Given the description of an element on the screen output the (x, y) to click on. 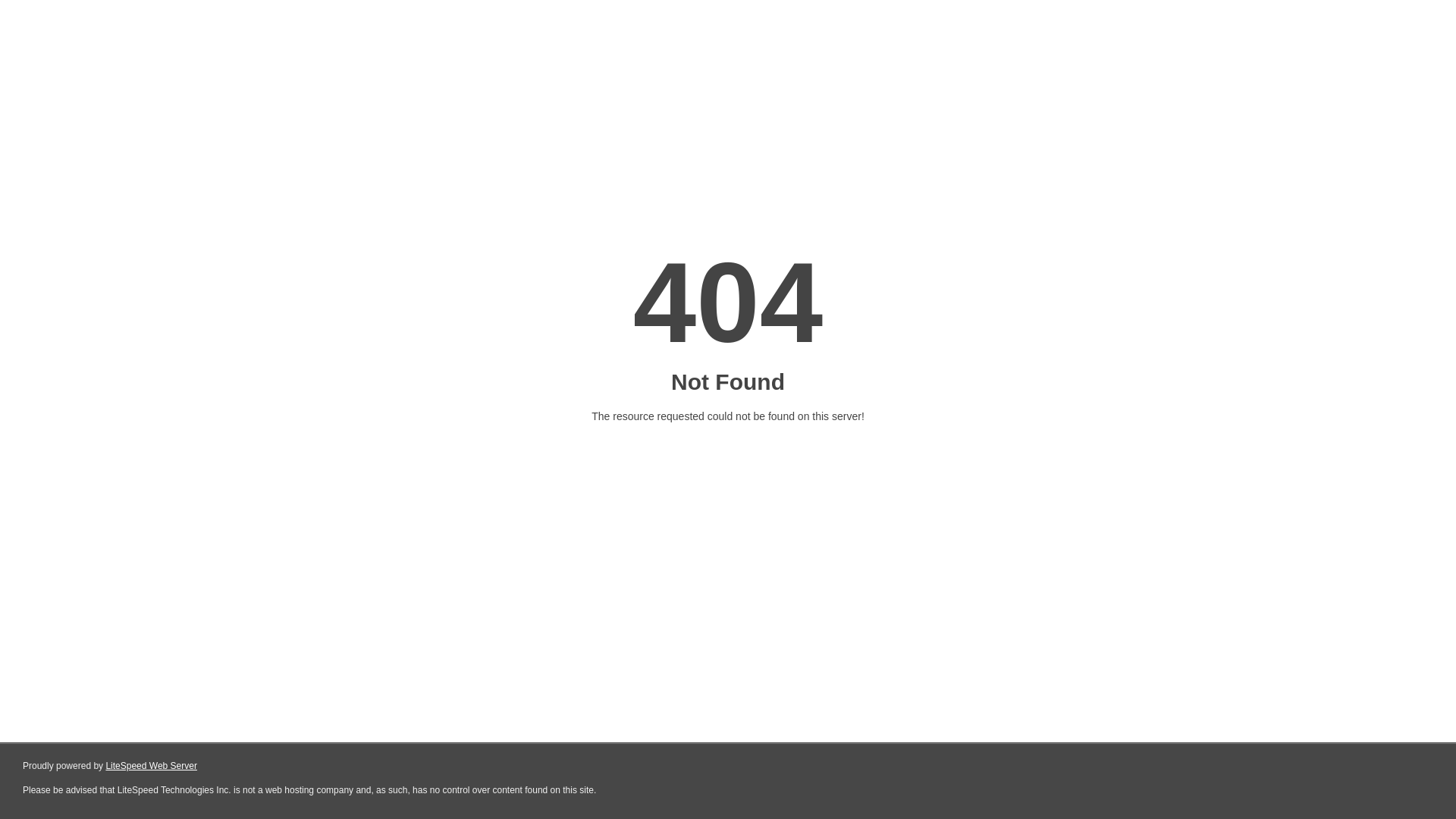
LiteSpeed Web Server Element type: text (151, 765)
